Given the description of an element on the screen output the (x, y) to click on. 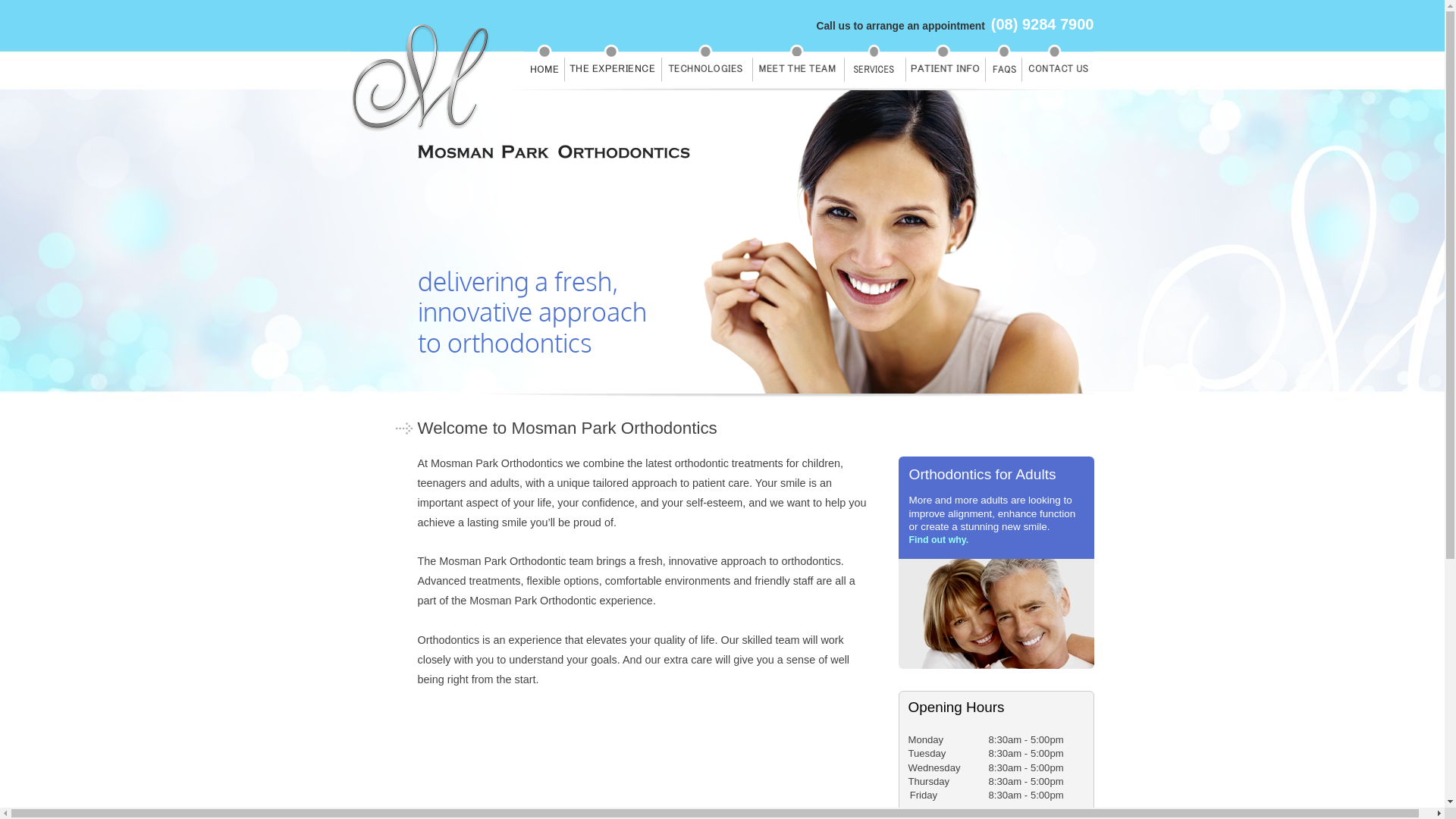
team Element type: text (787, 639)
(08) 9284 7900 Element type: text (1042, 23)
Find out why. Element type: text (938, 539)
children Element type: text (821, 463)
Mosman Park Orthodontic experience Element type: text (560, 600)
adults Element type: text (504, 482)
